Given the description of an element on the screen output the (x, y) to click on. 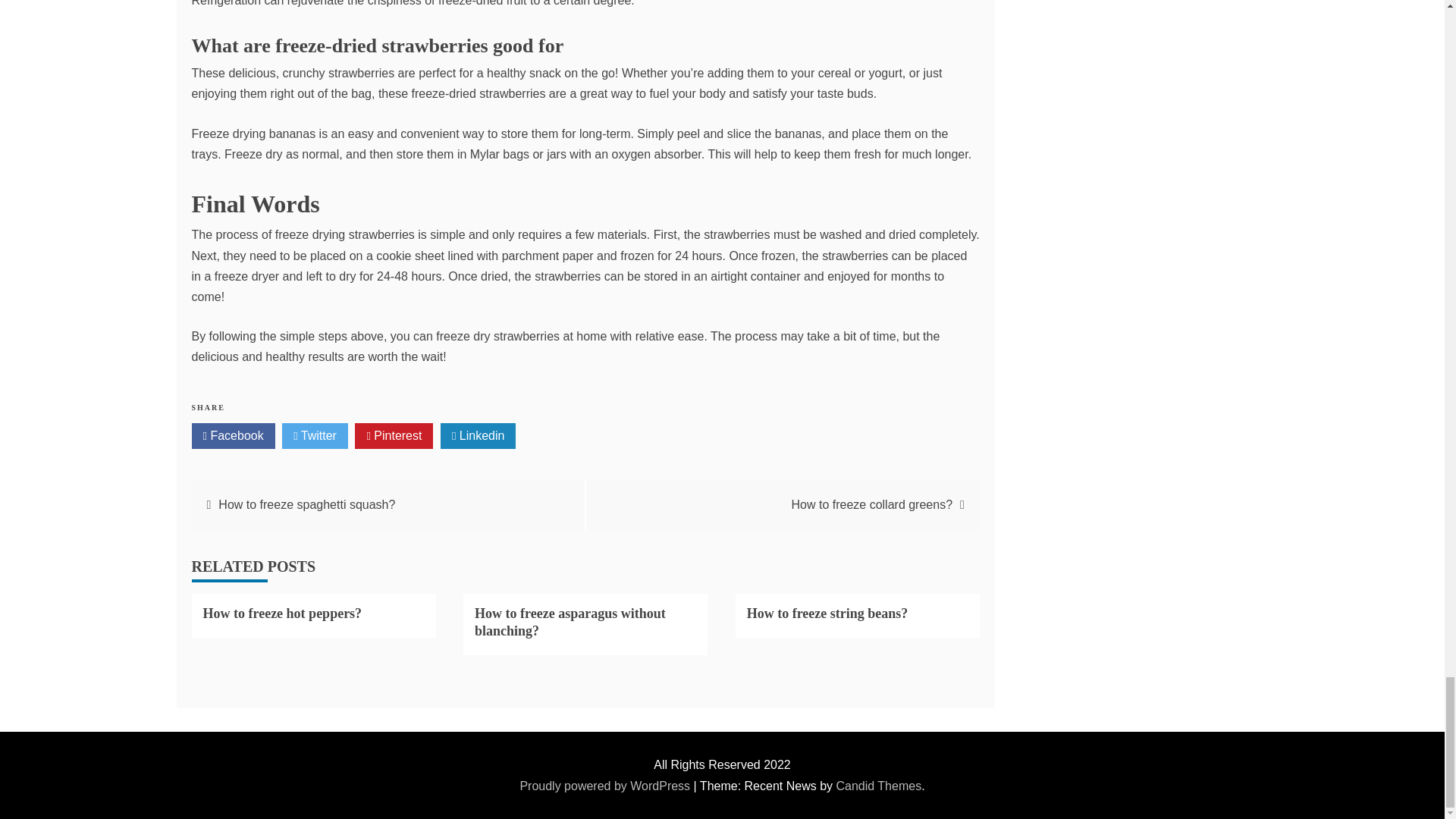
Facebook (232, 435)
